Given the description of an element on the screen output the (x, y) to click on. 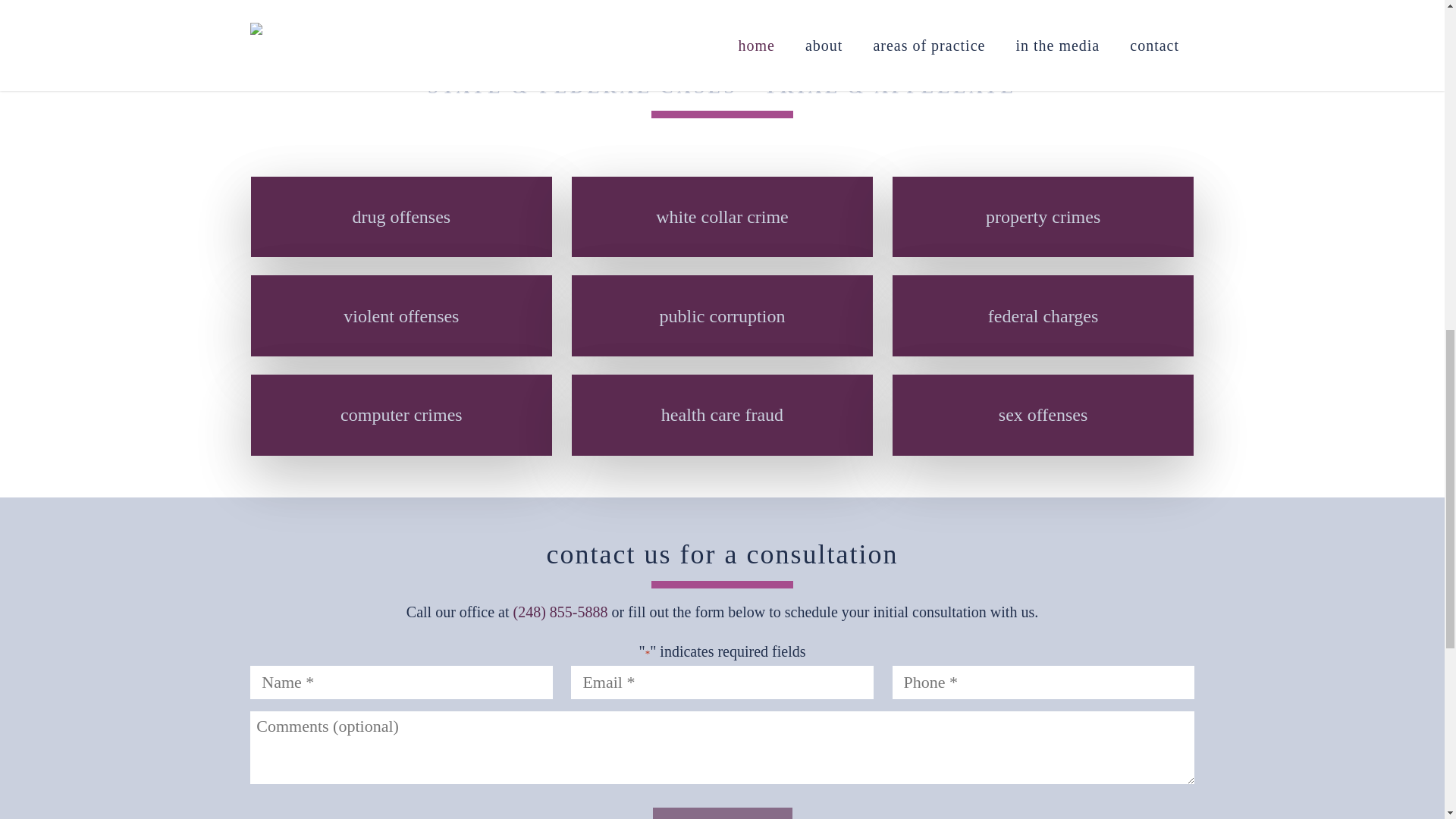
submit form (722, 813)
submit form (722, 813)
